Given the description of an element on the screen output the (x, y) to click on. 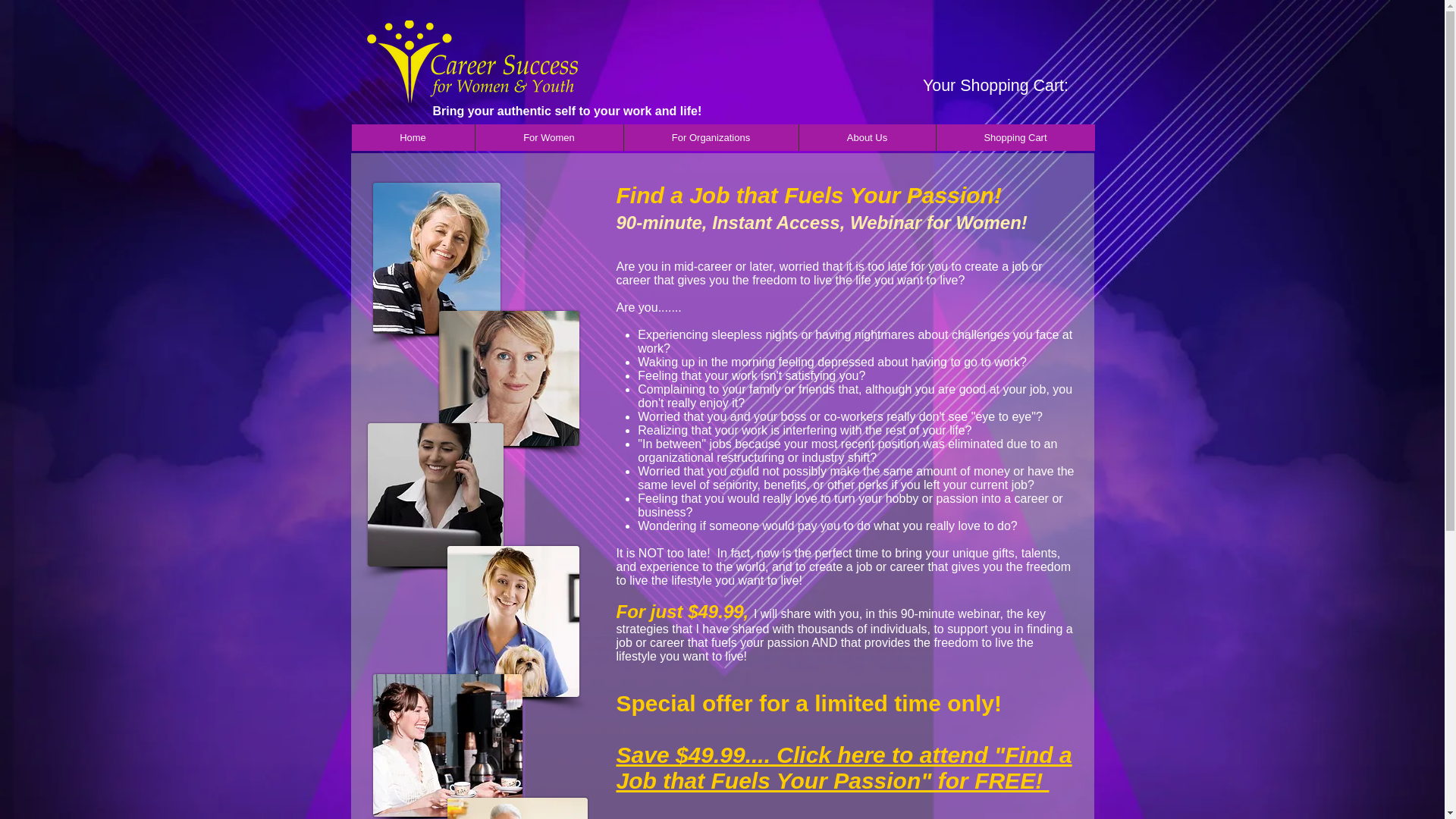
Your Shopping Cart: (1008, 85)
Shopping Cart (1015, 137)
Your Shopping Cart: (1008, 85)
Home (413, 137)
Yellow logo.png (472, 67)
